Given the description of an element on the screen output the (x, y) to click on. 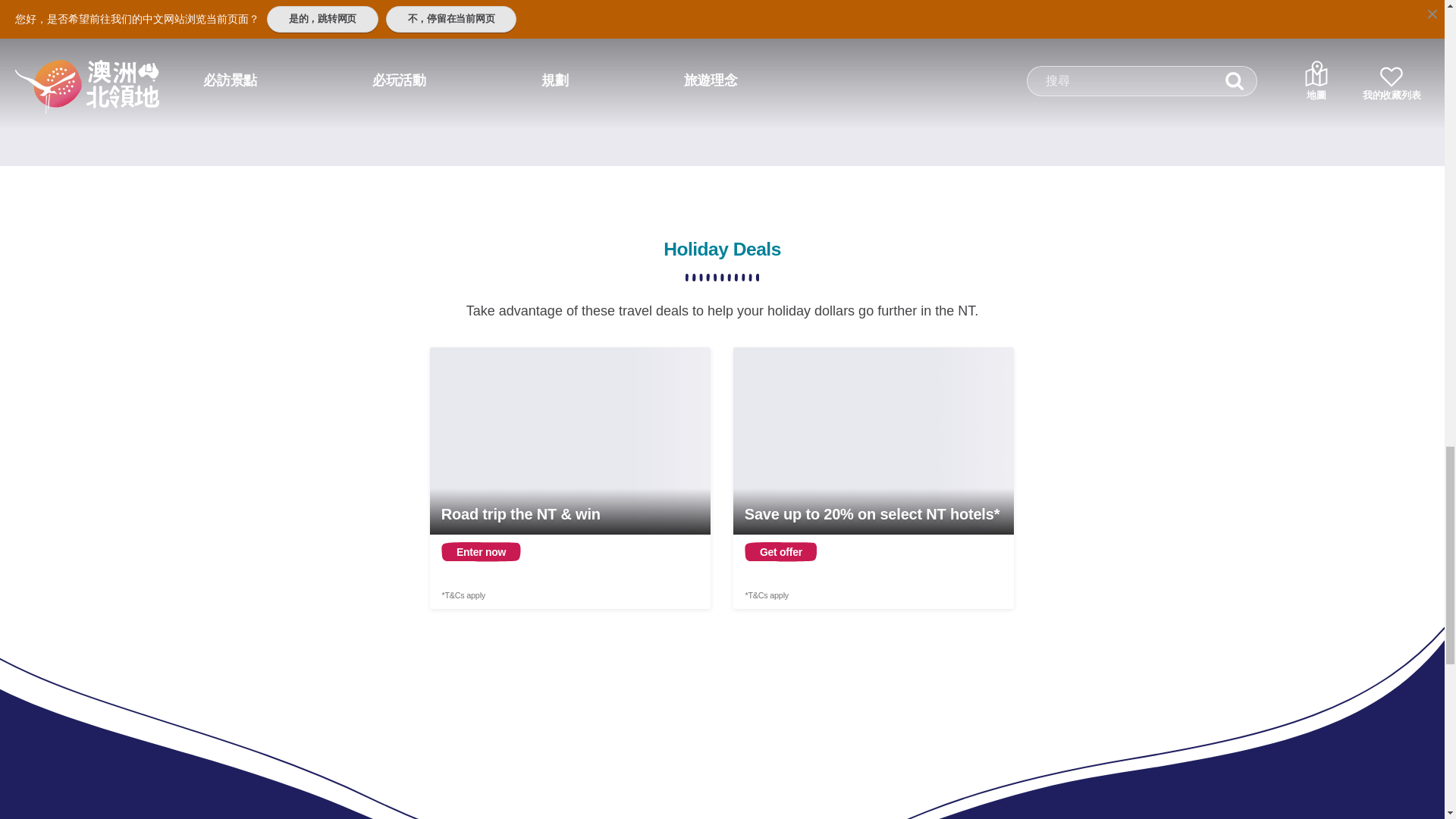
Opens in a new window (569, 478)
Opens in a new window (873, 478)
